Given the description of an element on the screen output the (x, y) to click on. 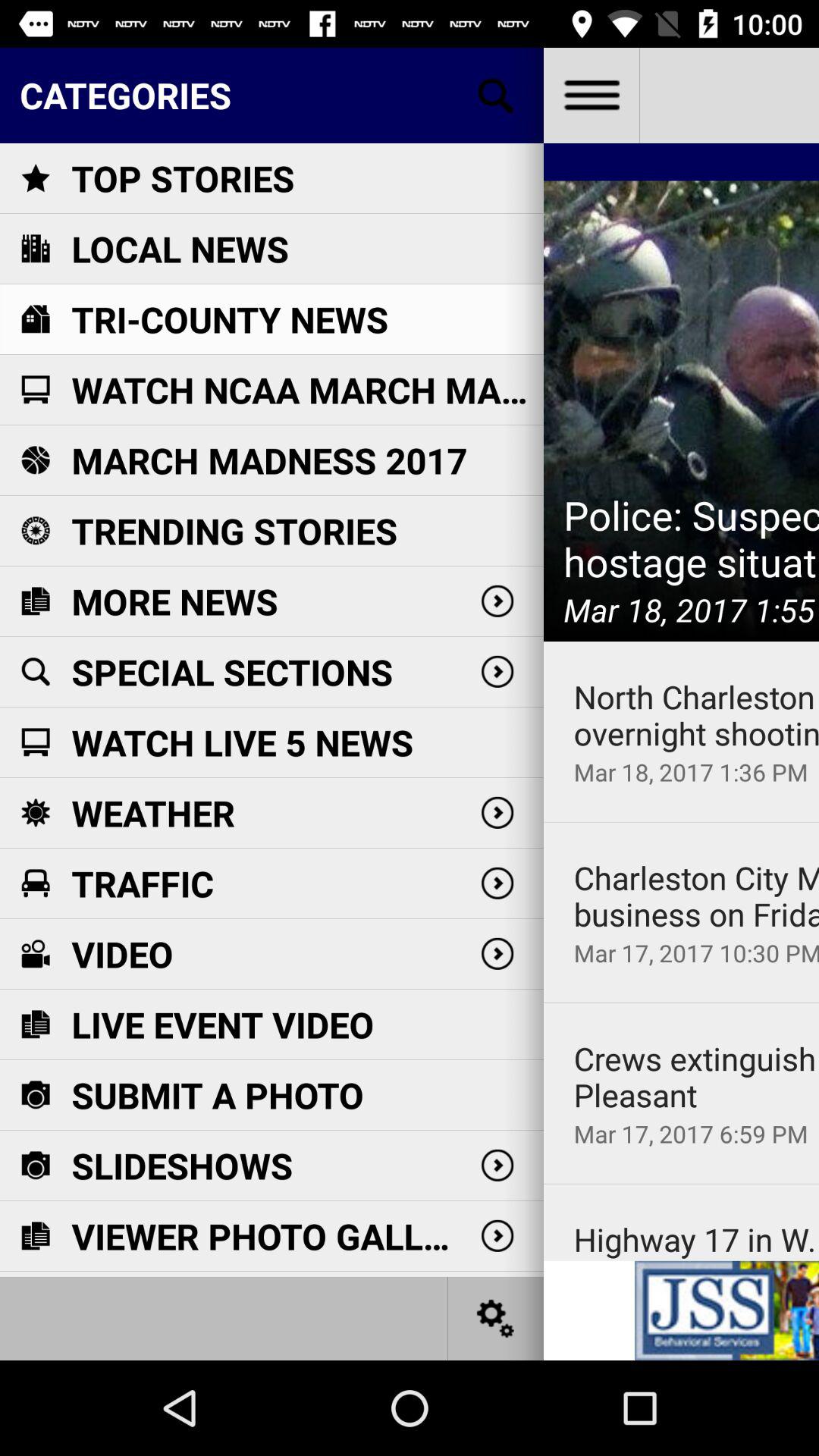
swipe until categories (271, 95)
